Given the description of an element on the screen output the (x, y) to click on. 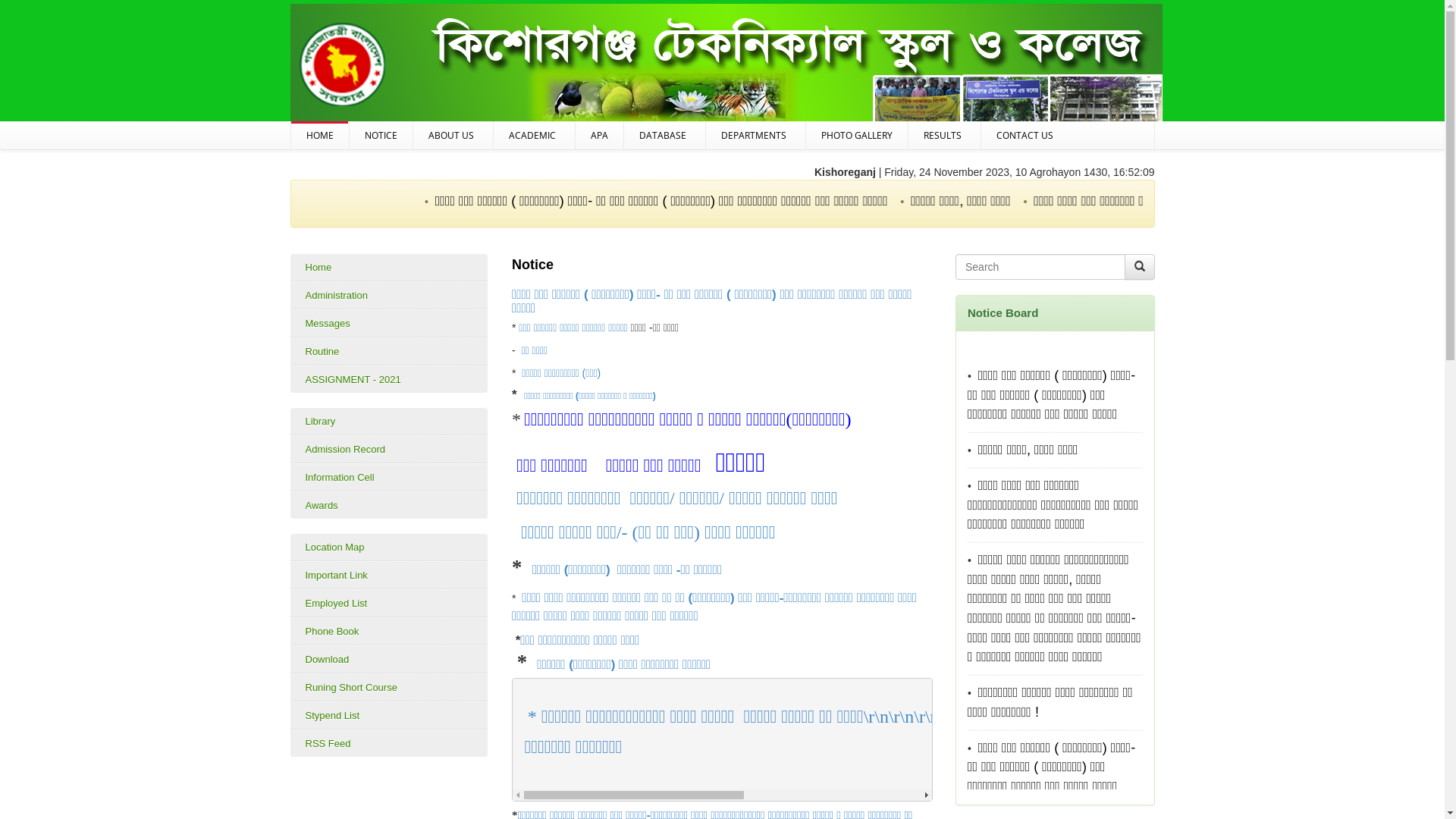
Phone Book Element type: text (387, 631)
ASSIGNMENT - 2021 Element type: text (387, 378)
Home Element type: text (387, 267)
RESULTS Element type: text (944, 135)
Messages Element type: text (387, 323)
Download Element type: text (387, 659)
Important Link Element type: text (387, 575)
CONTACT US Element type: text (1024, 135)
DEPARTMENTS Element type: text (754, 135)
Location Map Element type: text (387, 547)
Kishoreganj Technical School & College Element type: hover (725, 67)
DATABASE Element type: text (663, 135)
Library Element type: text (387, 421)
ACADEMIC Element type: text (533, 135)
Runing Short Course Element type: text (387, 687)
Administration Element type: text (387, 295)
Information Cell Element type: text (387, 477)
Employed List Element type: text (387, 603)
NOTICE Element type: text (379, 135)
ABOUT US Element type: text (452, 135)
HOME Element type: text (319, 135)
Notice Board Element type: text (1002, 312)
Notice Element type: text (532, 264)
RSS Feed Element type: text (387, 742)
Awards Element type: text (387, 504)
Admission Record Element type: text (387, 449)
PHOTO GALLERY Element type: text (855, 135)
APA Element type: text (598, 135)
Routine Element type: text (387, 351)
Stypend List Element type: text (387, 715)
